Given the description of an element on the screen output the (x, y) to click on. 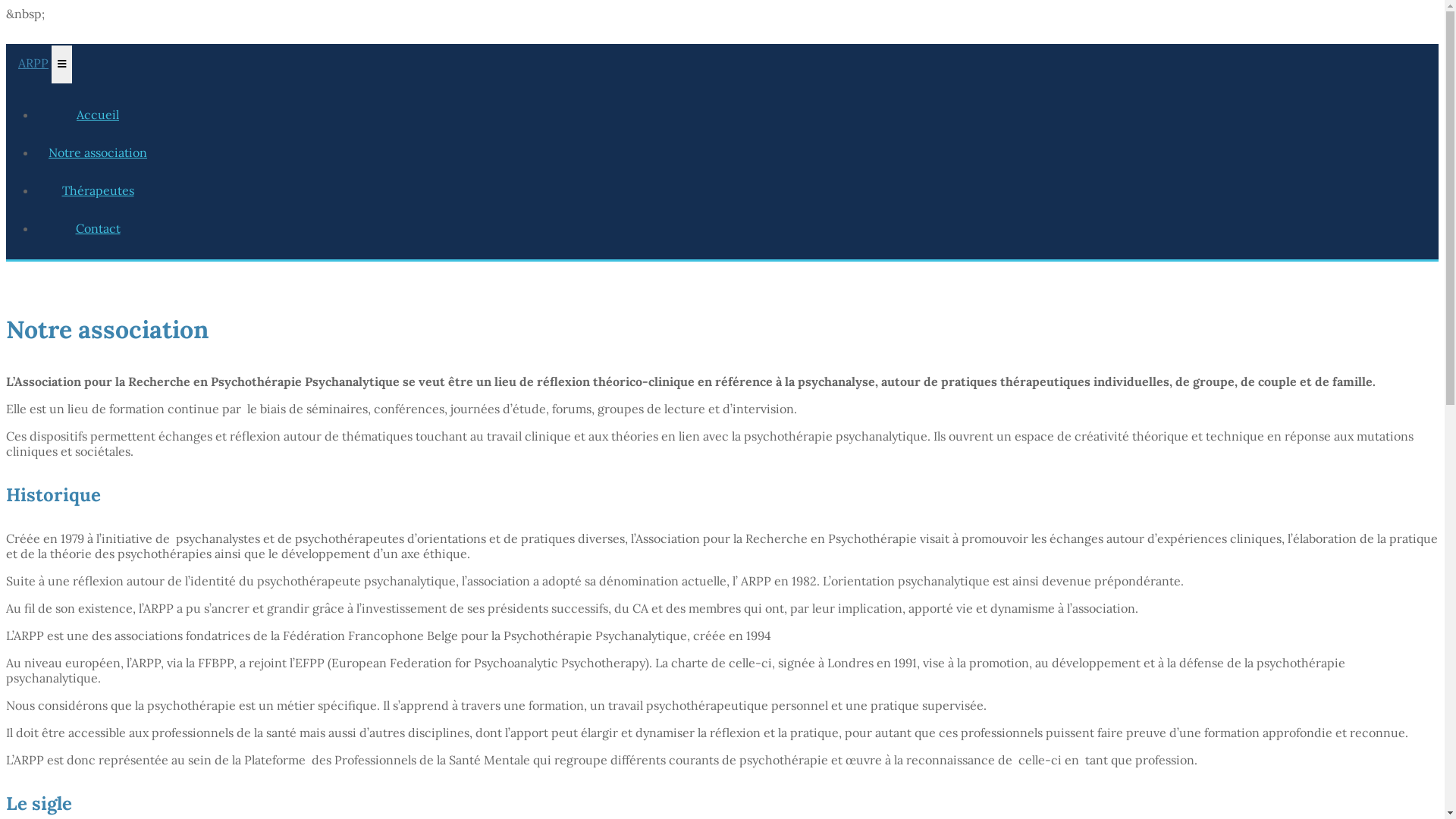
Contact Element type: text (97, 228)
Accueil Element type: text (97, 114)
Notre association Element type: text (97, 152)
ARPP Element type: text (27, 62)
